Given the description of an element on the screen output the (x, y) to click on. 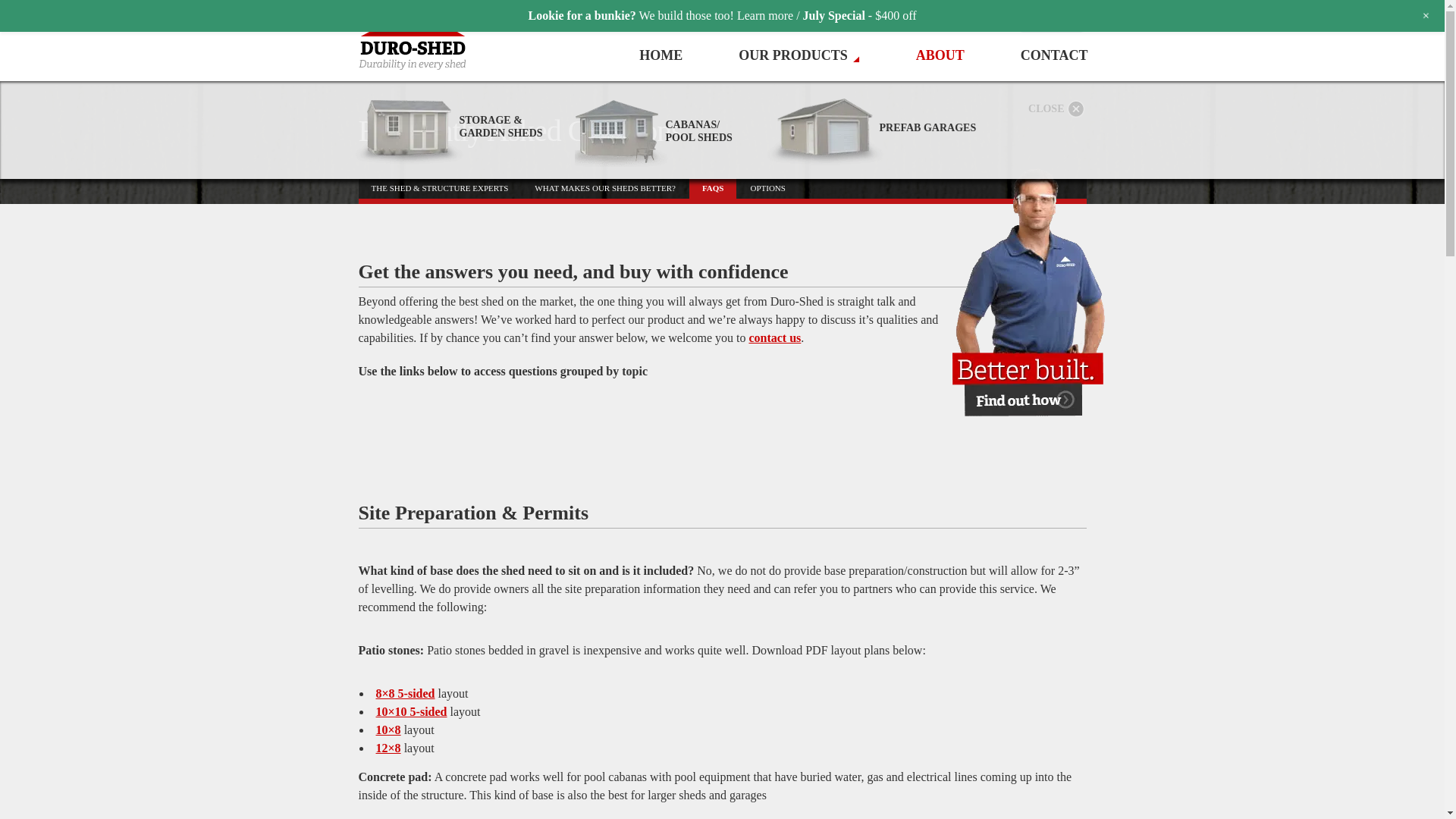
OUR PRODUCTS (799, 55)
contact us (774, 337)
OPTIONS (766, 188)
1-877-811-SHED (909, 16)
FAQS (712, 188)
PREFAB GARAGES (871, 125)
CONTACT (1053, 55)
ABOUT (939, 55)
Email Us (1050, 16)
Contact (774, 337)
CLOSE (1055, 110)
HOME (660, 55)
DuroShed (426, 38)
WHAT MAKES OUR SHEDS BETTER? (604, 188)
